Given the description of an element on the screen output the (x, y) to click on. 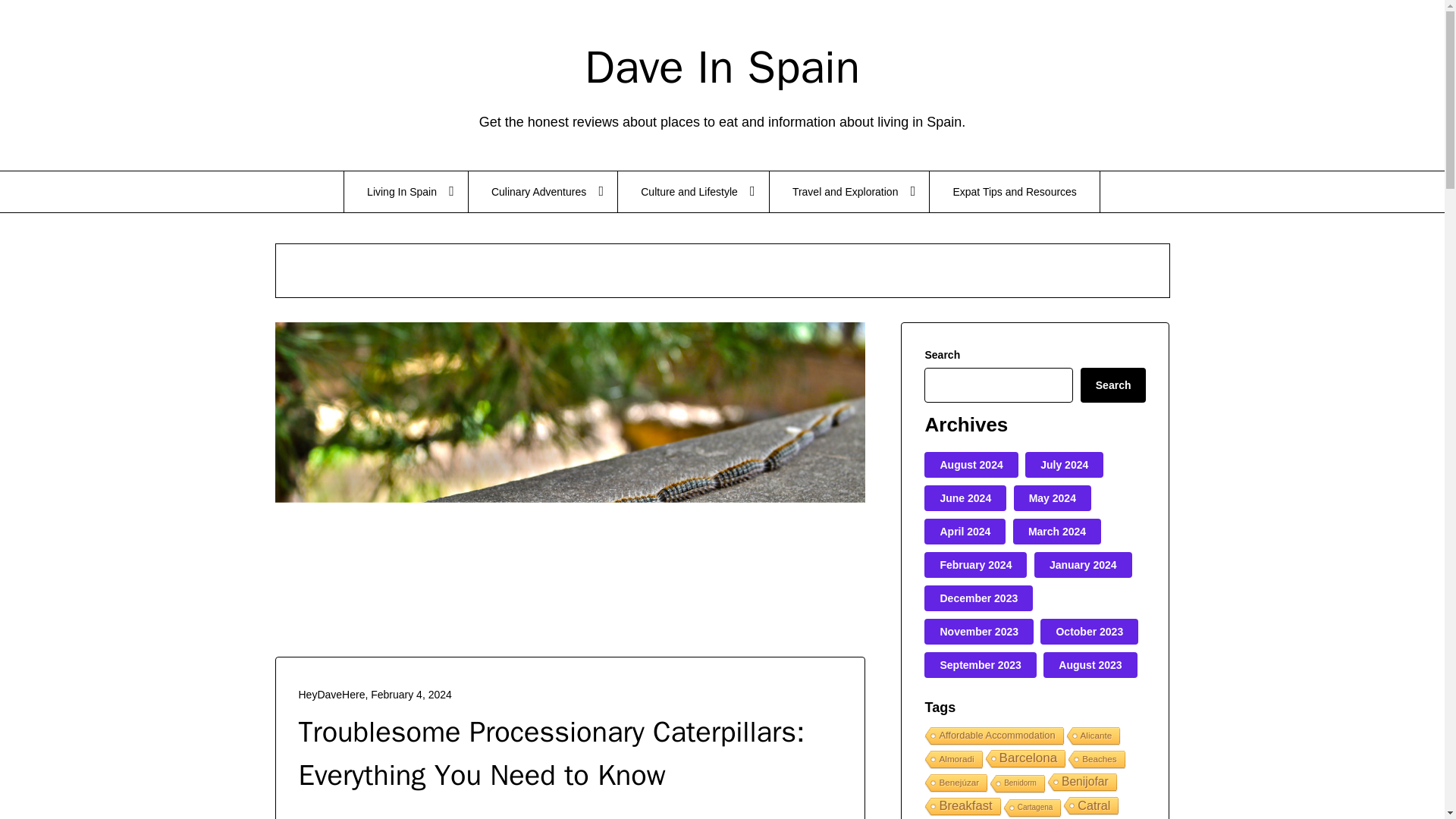
Culinary Adventures (542, 191)
Dave In Spain (722, 67)
Culture and Lifestyle (692, 191)
Expat Tips and Resources (1014, 191)
Travel and Exploration (850, 191)
Living In Spain (405, 191)
February 4, 2024 (411, 694)
